Given the description of an element on the screen output the (x, y) to click on. 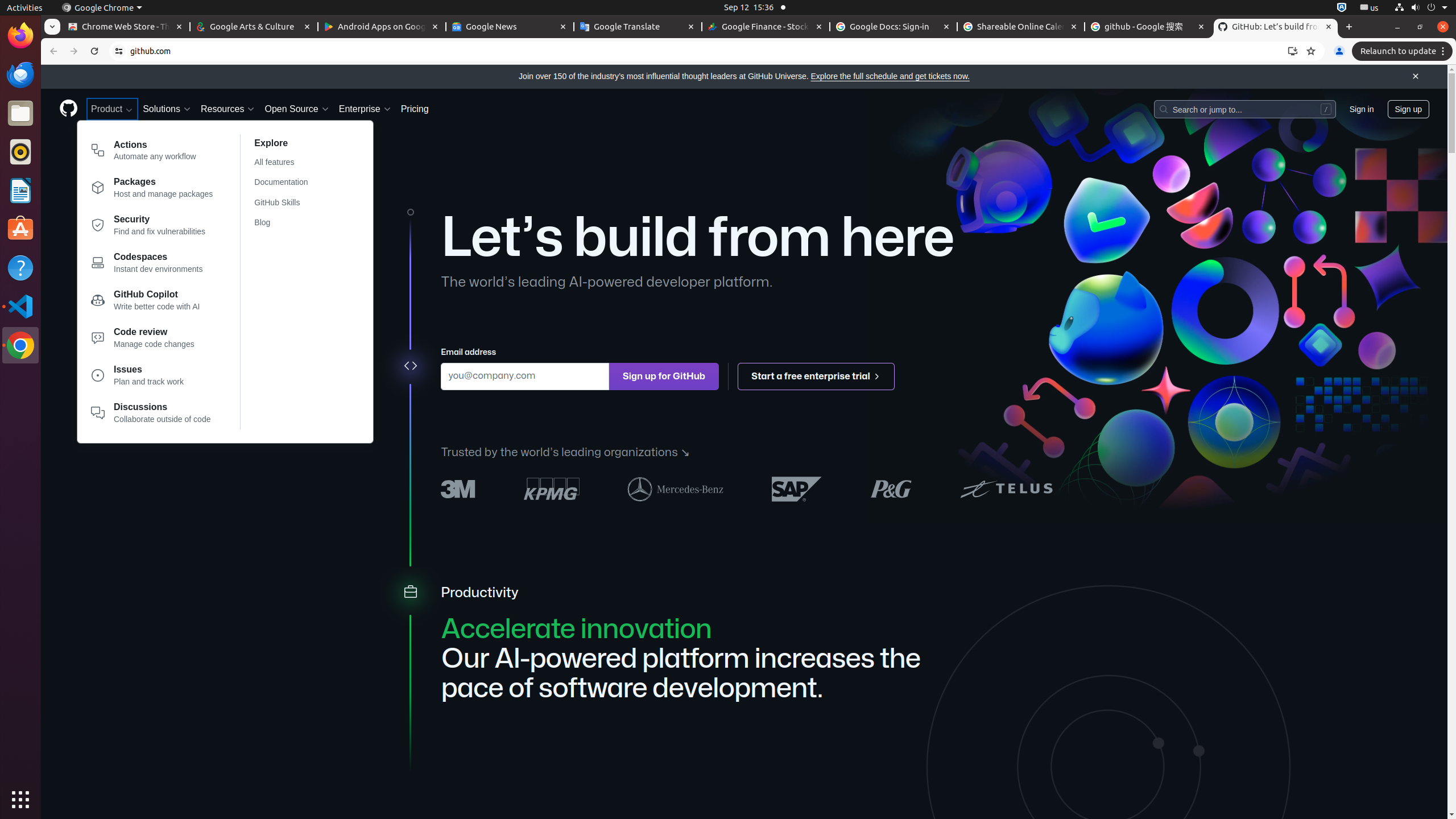
Start a free enterprise trial  Element type: link (816, 376)
Google Chrome Element type: push-button (20, 344)
Blog Element type: link (287, 222)
Enterprise Element type: push-button (364, 108)
Explore the full schedule and get tickets now. Element type: link (889, 75)
